Given the description of an element on the screen output the (x, y) to click on. 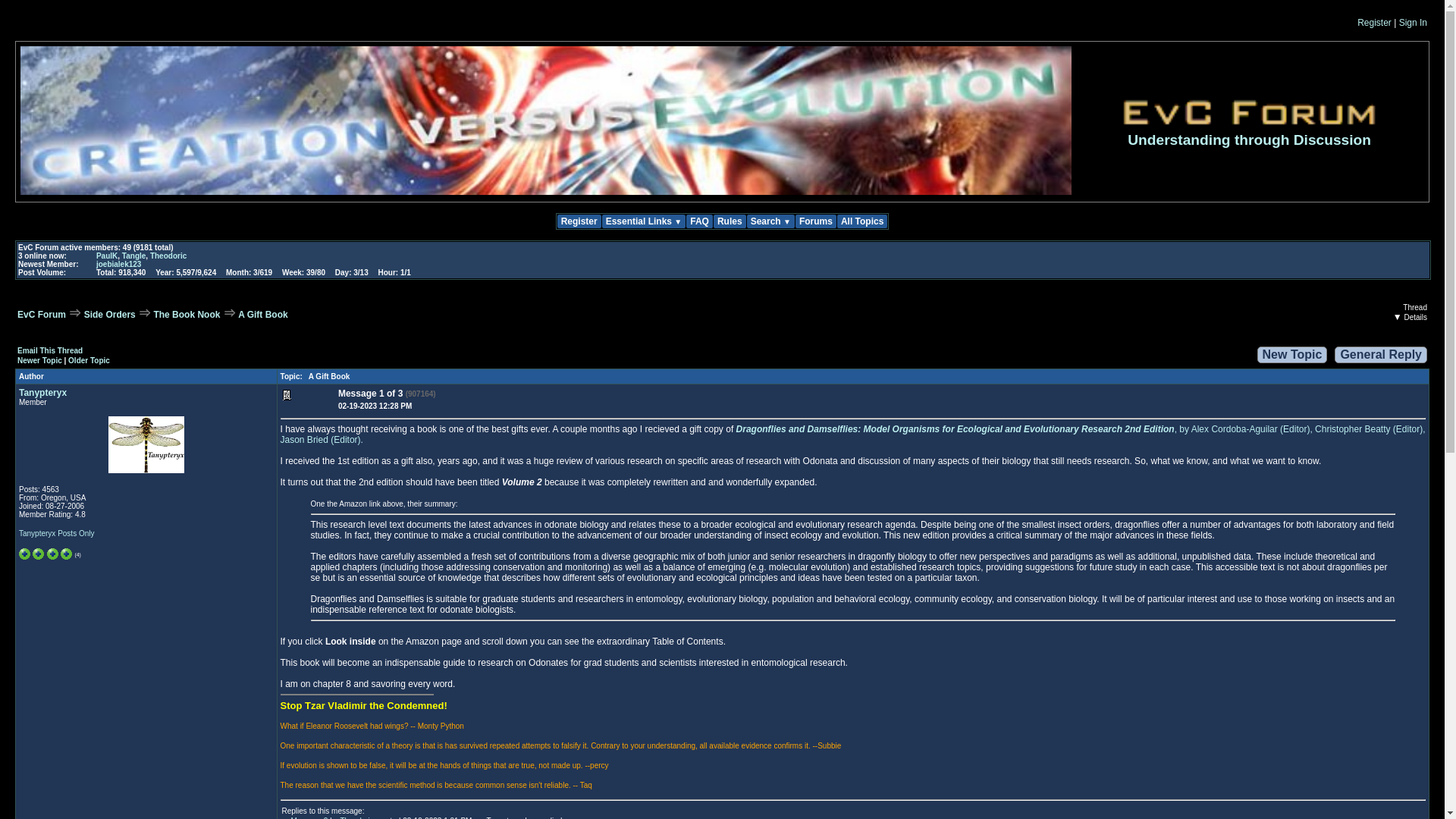
All Topics (861, 221)
FAQ (699, 221)
Forums (814, 221)
Rules (729, 221)
Register (1373, 22)
Register (578, 221)
searchcontinue (182, 248)
